Given the description of an element on the screen output the (x, y) to click on. 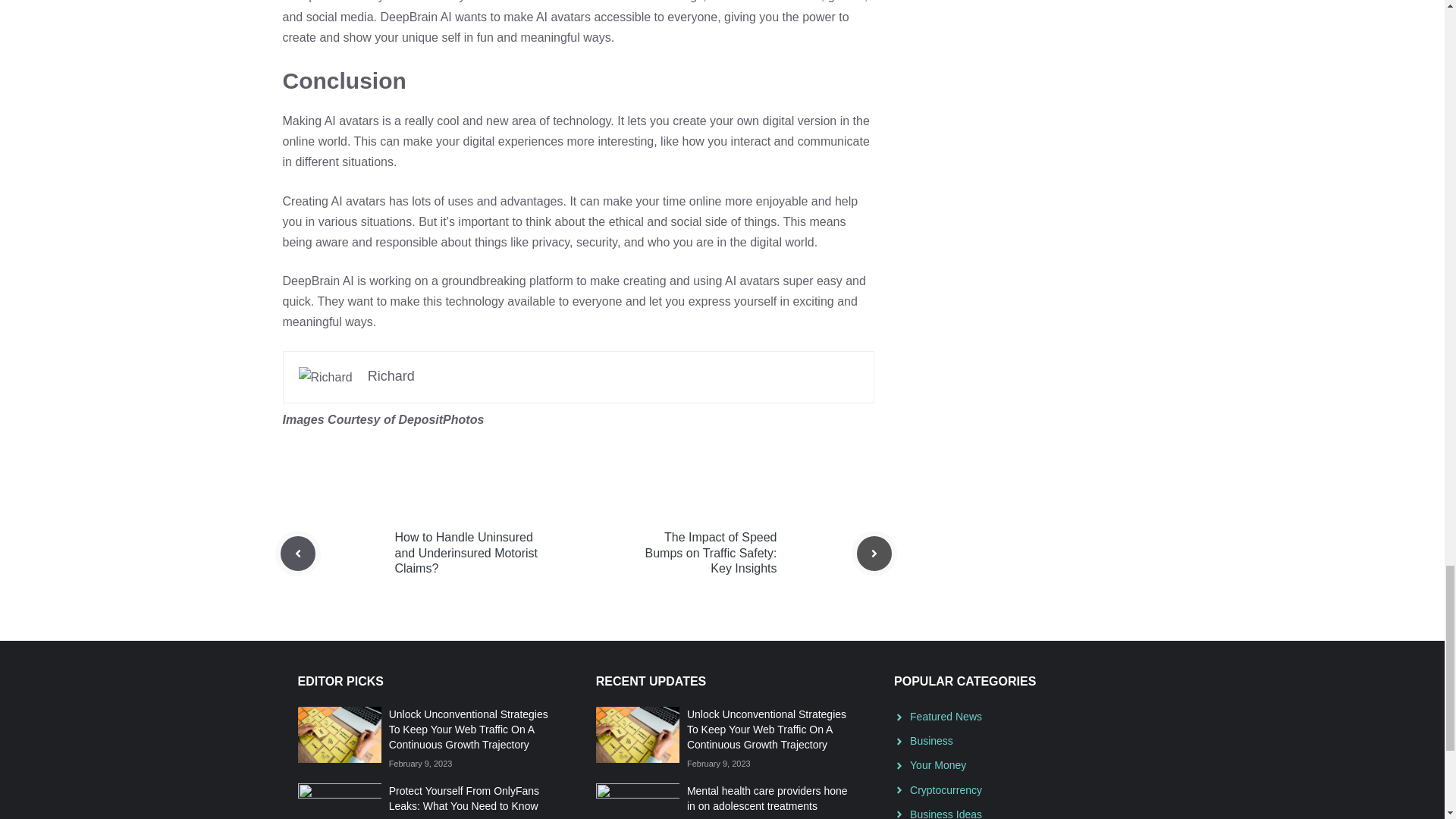
Protect Yourself From OnlyFans Leaks: What You Need to Know (463, 798)
Richard (391, 376)
DepositPhotos (440, 419)
The Impact of Speed Bumps on Traffic Safety: Key Insights (710, 552)
How to Handle Uninsured and Underinsured Motorist Claims? (465, 552)
